Given the description of an element on the screen output the (x, y) to click on. 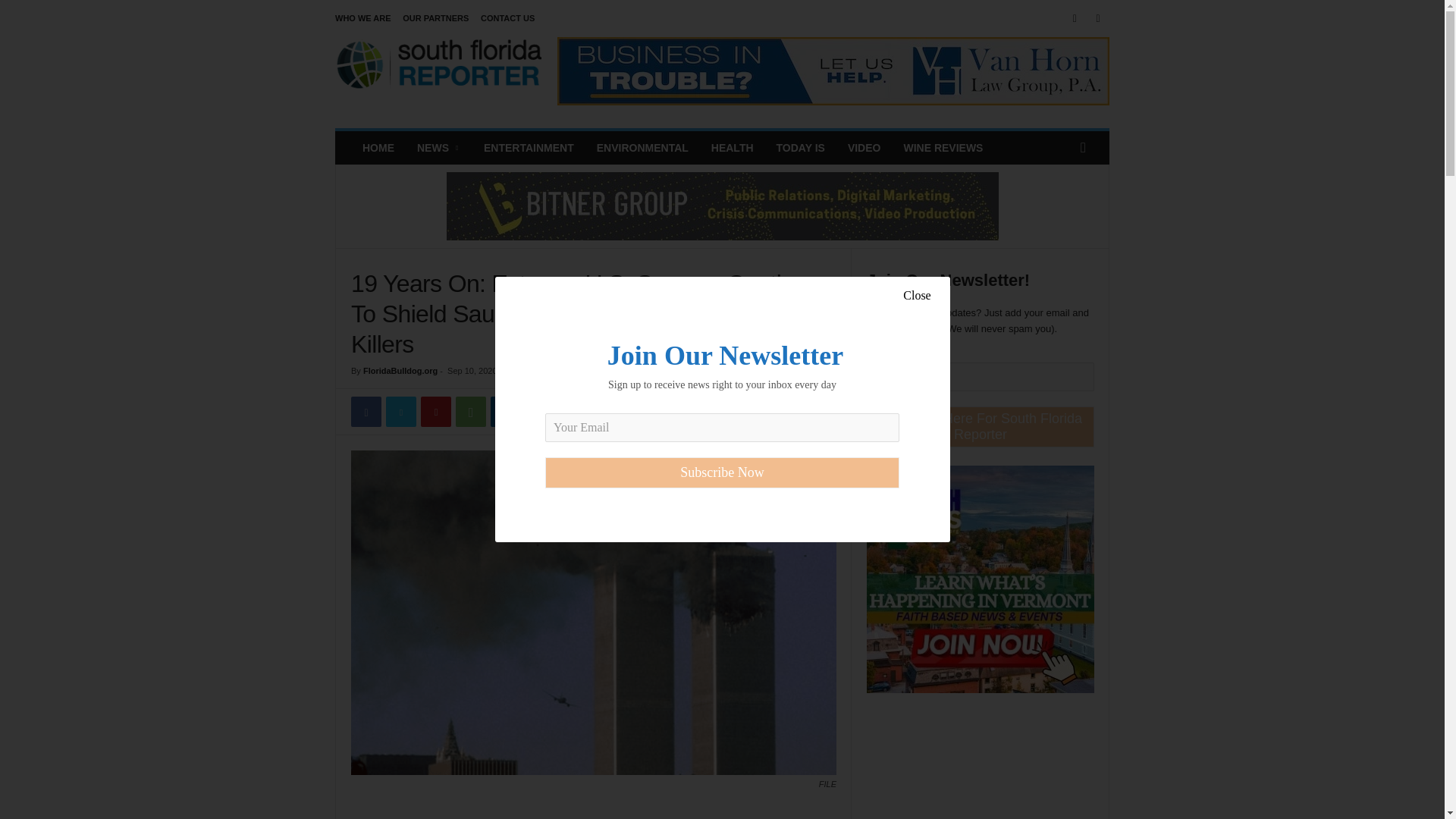
VIDEO (863, 147)
ReddIt (540, 411)
CONTACT US (507, 17)
Twitter (400, 411)
HOME (378, 147)
WhatsApp (470, 411)
ENVIRONMENTAL (642, 147)
Linkedin (505, 411)
OUR PARTNERS (435, 17)
NEWS (438, 147)
South Florida Reporter (437, 70)
WHO WE ARE (362, 17)
Twitter (1097, 18)
